Given the description of an element on the screen output the (x, y) to click on. 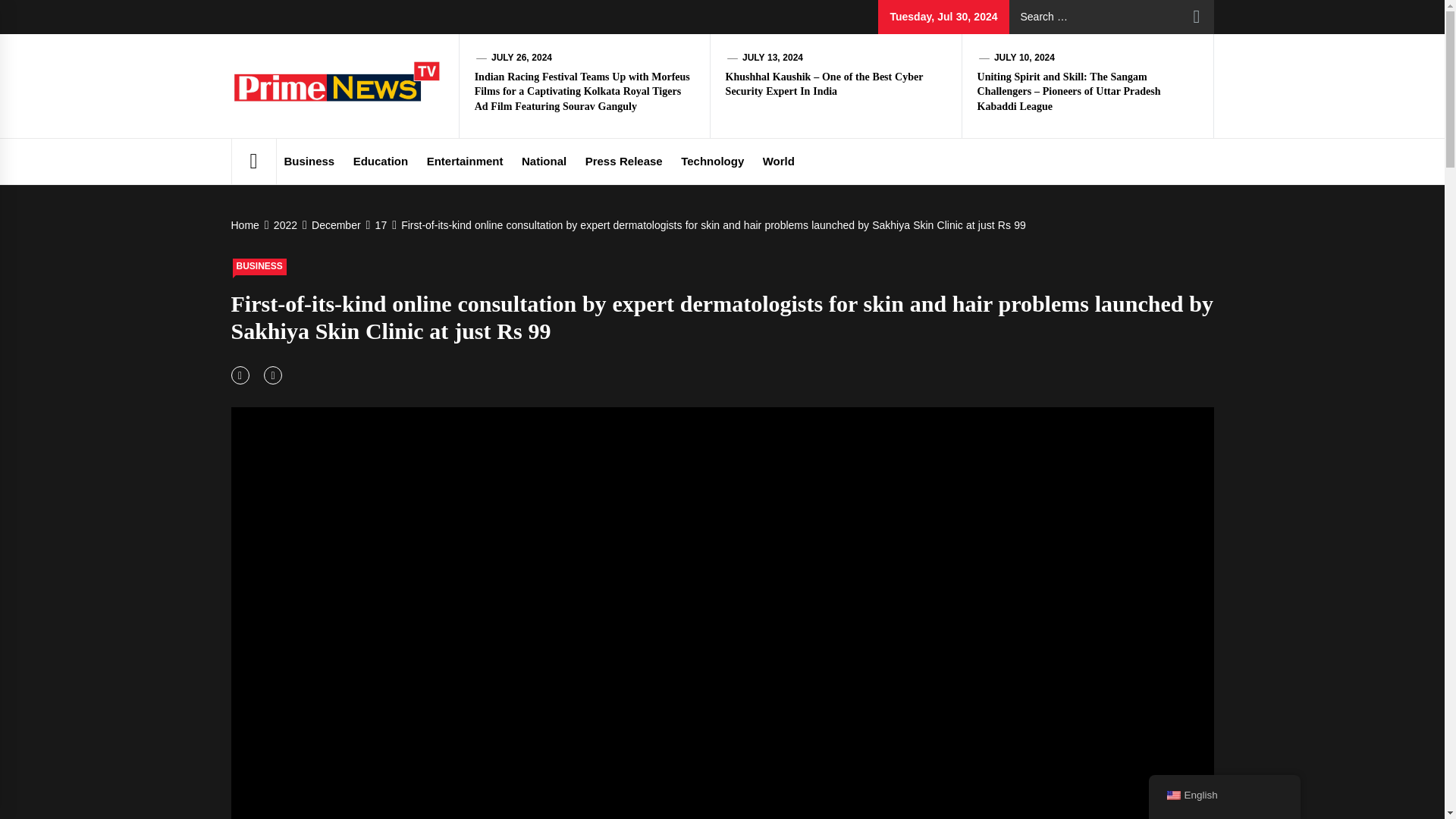
JULY 10, 2024 (1024, 57)
17 (379, 224)
World (778, 161)
2022 (283, 224)
Search (1196, 17)
JULY 26, 2024 (521, 57)
BUSINESS (258, 266)
Search (1196, 17)
English (1172, 795)
Press Release (623, 161)
Technology (711, 161)
Business (309, 161)
Education (381, 161)
Search (1196, 17)
